Given the description of an element on the screen output the (x, y) to click on. 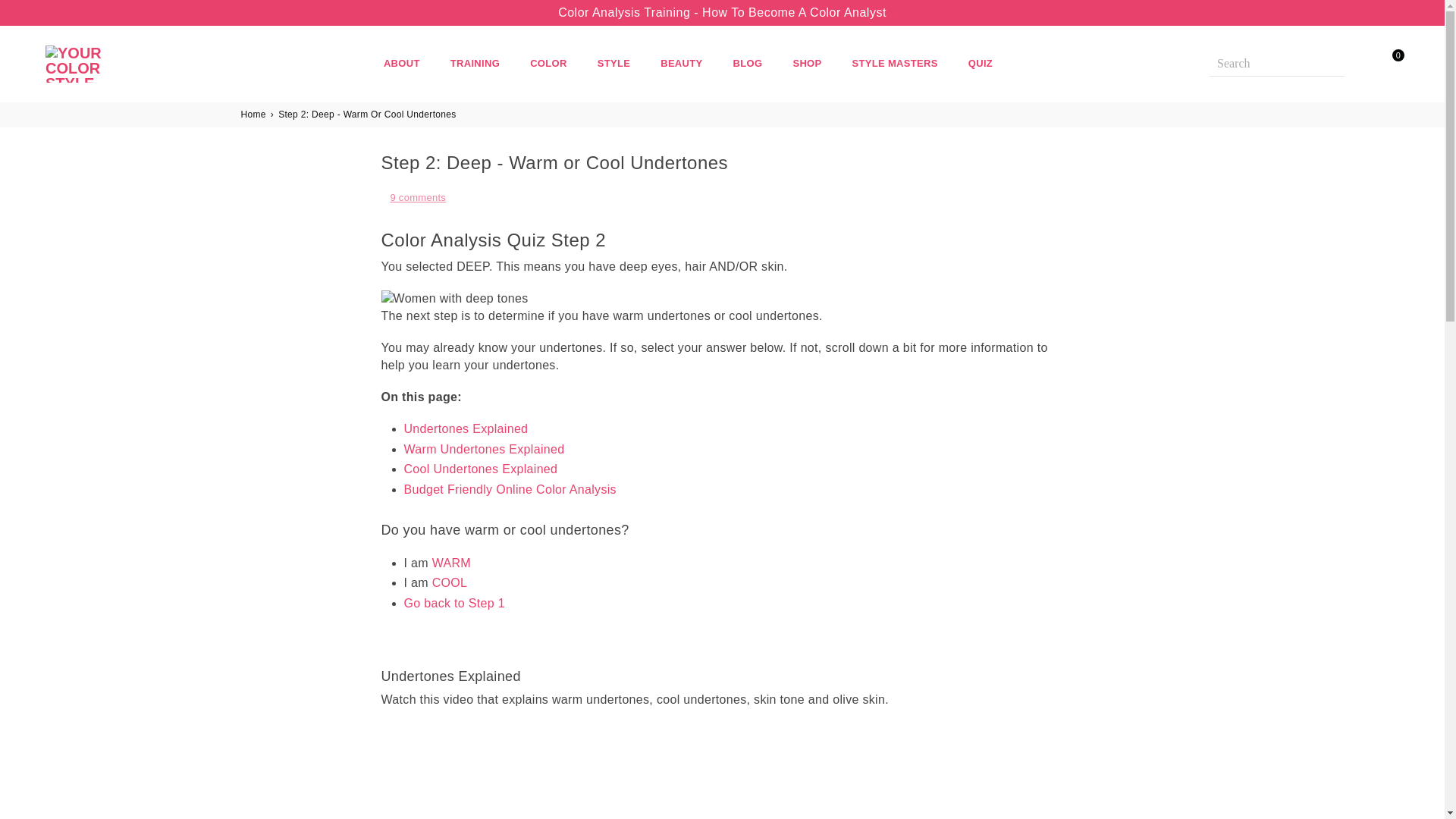
STYLE MASTERS (895, 63)
COLOR (548, 63)
I have warm undertones (451, 563)
BEAUTY (681, 63)
Cart (1385, 62)
STYLE (614, 63)
TRAINING (475, 63)
Settings (1357, 62)
Back to the home page (254, 114)
I have cool undertones (449, 582)
SHOP (806, 63)
YouTube video player (592, 771)
ABOUT (401, 63)
Color Analysis Training - How To Become A Color Analyst (721, 12)
YOUR COLOR STYLE (109, 63)
